Given the description of an element on the screen output the (x, y) to click on. 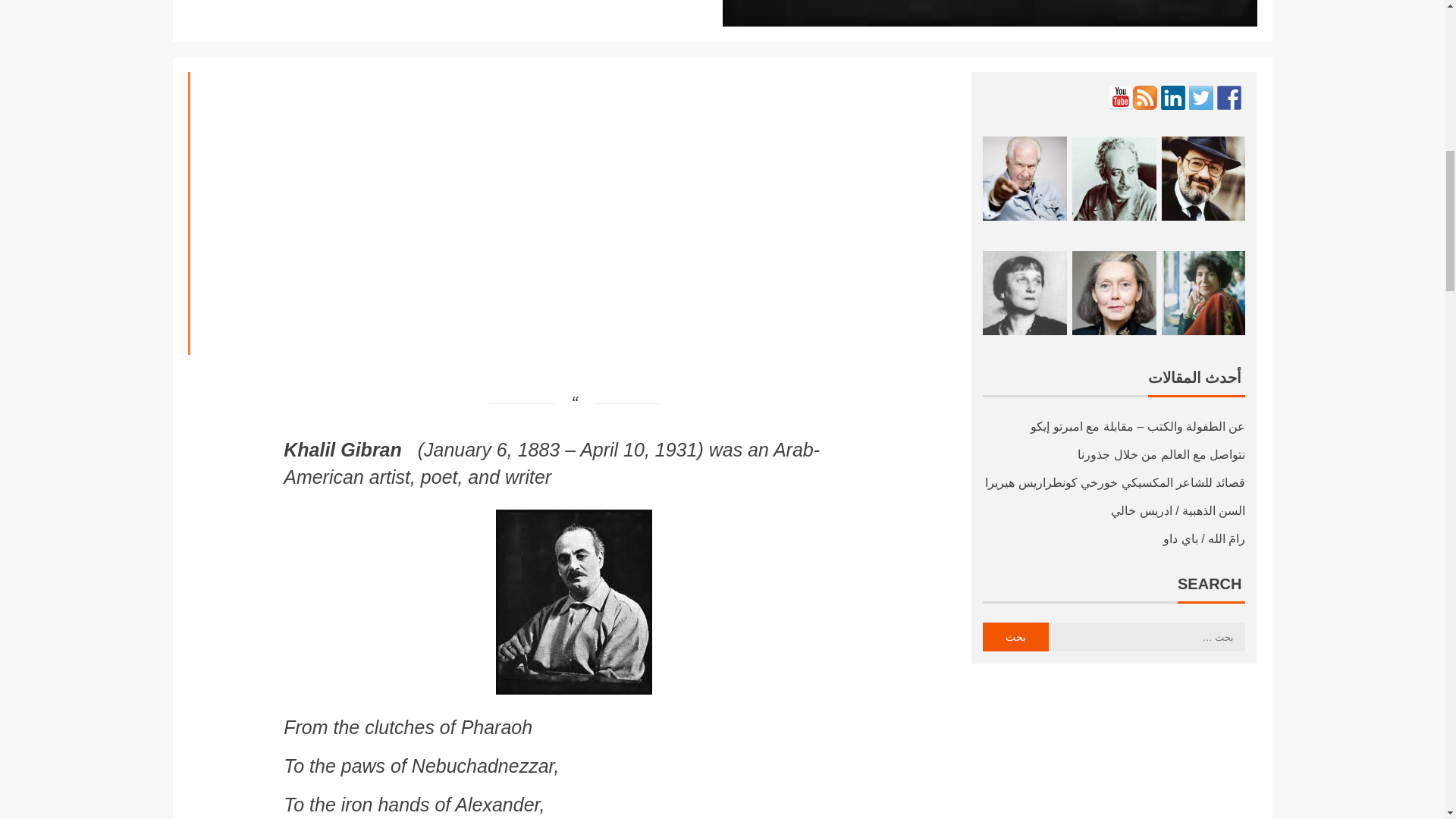
Khalil Gibran (342, 449)
Follow us on Facebook (1229, 97)
